Given the description of an element on the screen output the (x, y) to click on. 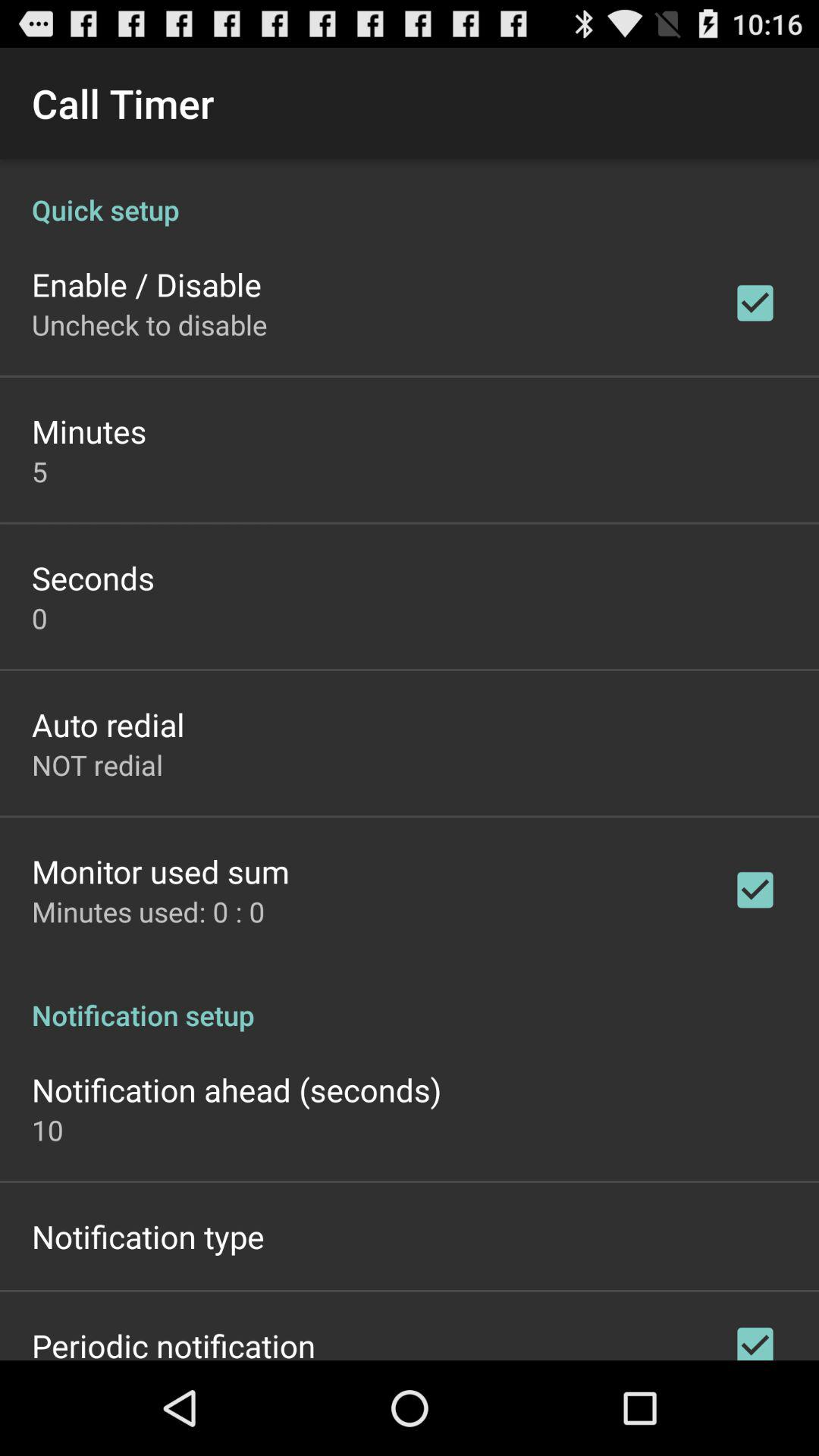
turn off app above not redial (107, 724)
